Given the description of an element on the screen output the (x, y) to click on. 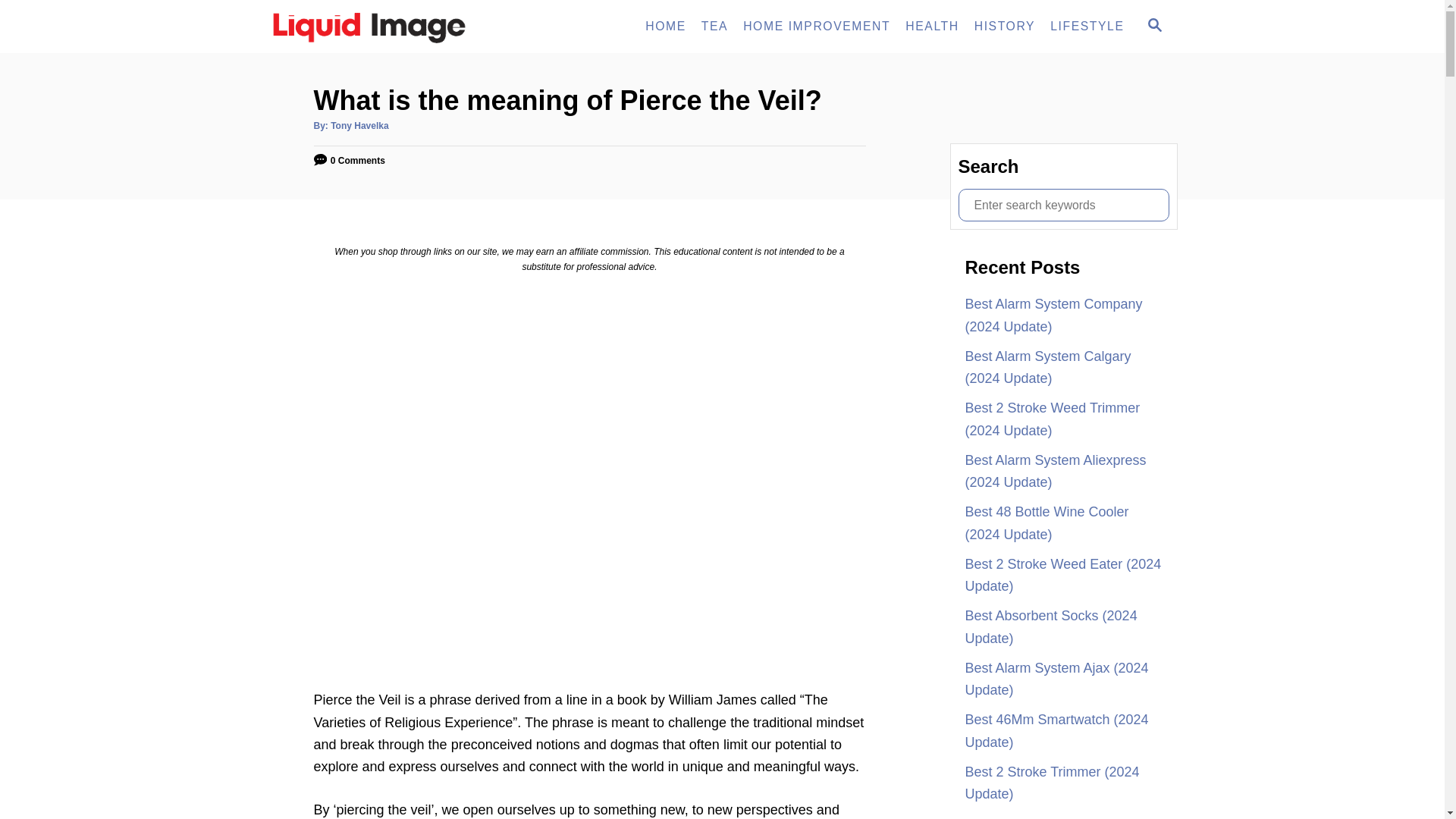
HISTORY (1004, 26)
Tony Havelka (359, 125)
HEALTH (932, 26)
LIFESTYLE (1086, 26)
MAGNIFYING GLASS (1153, 24)
HOME (1153, 26)
TEA (665, 26)
HOME IMPROVEMENT (714, 26)
Liquid Image (816, 26)
